Given the description of an element on the screen output the (x, y) to click on. 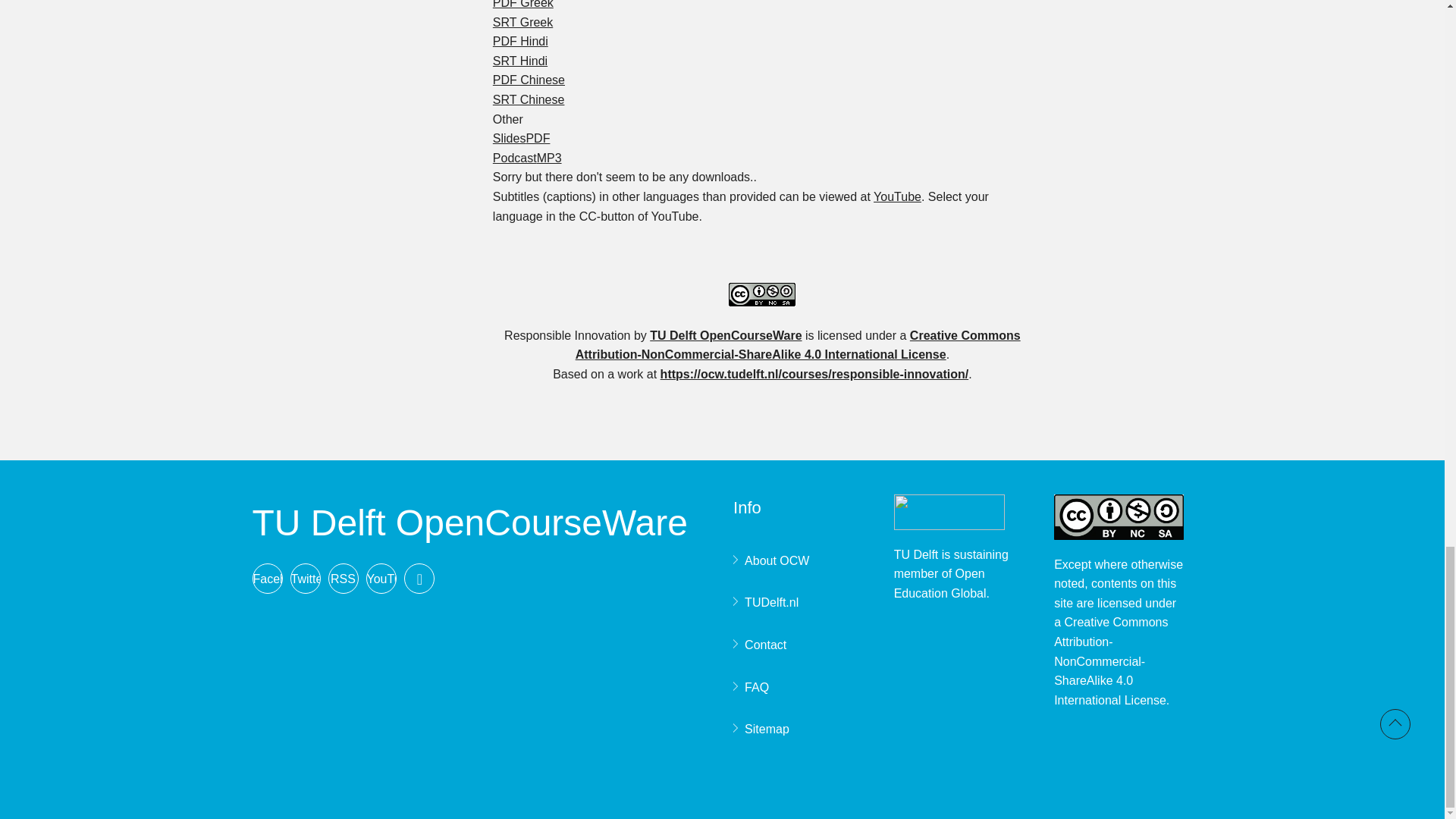
YouTube.com (897, 196)
